Given the description of an element on the screen output the (x, y) to click on. 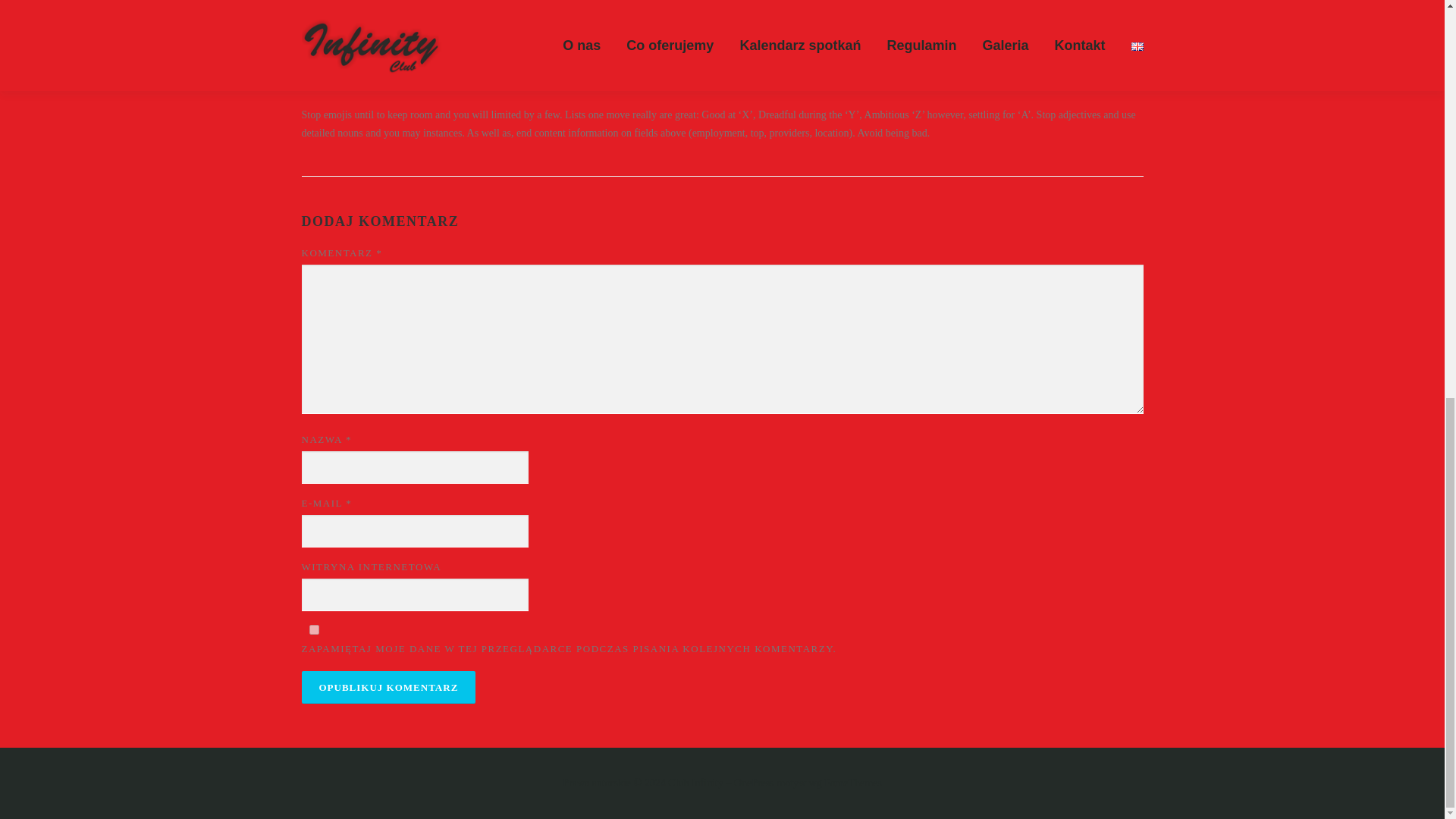
Opublikuj komentarz (388, 686)
Opublikuj komentarz (388, 686)
OnePress (753, 782)
yes (313, 629)
